Given the description of an element on the screen output the (x, y) to click on. 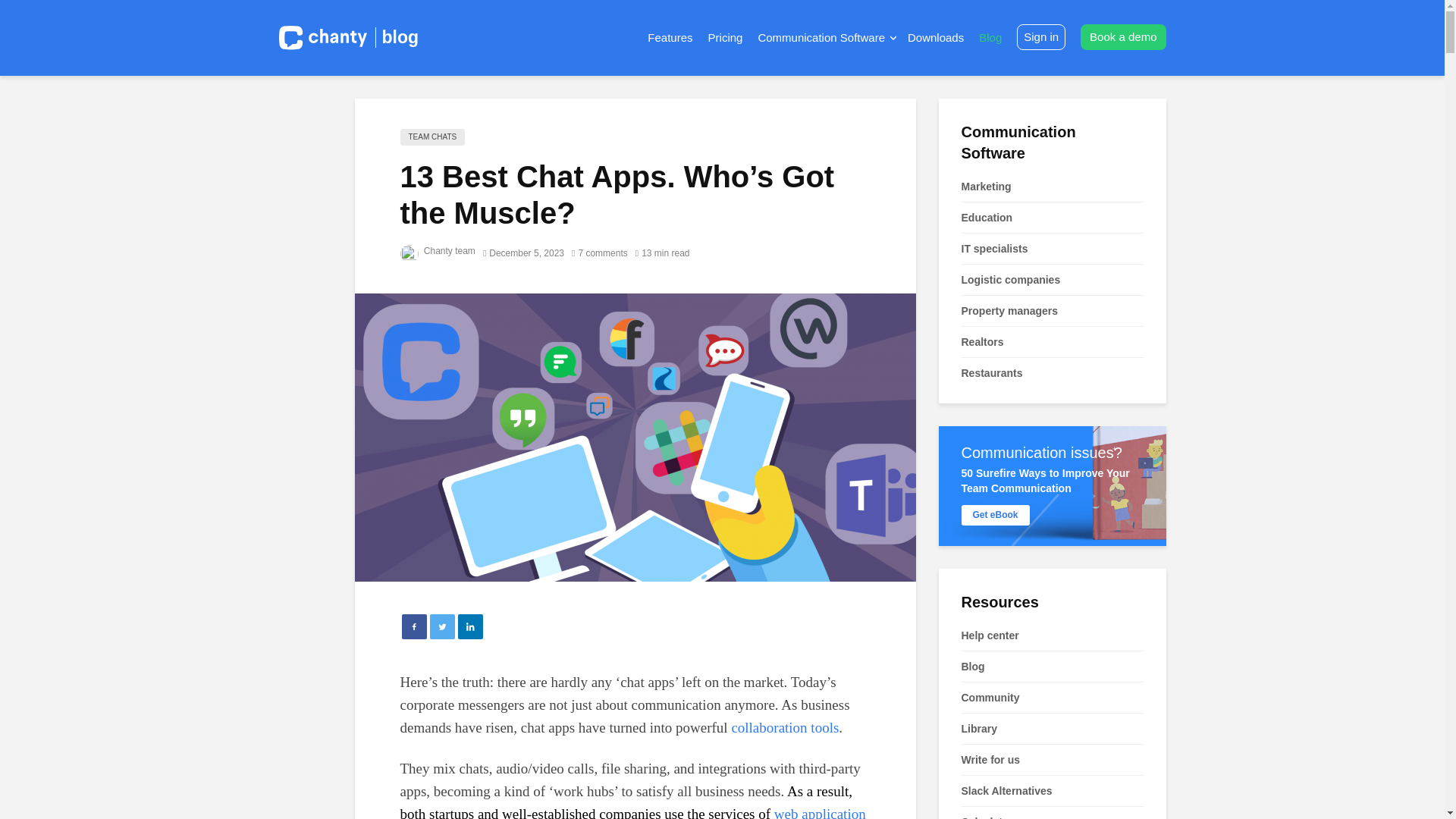
Facebook (413, 626)
Sign in (1040, 36)
Linkedin (470, 626)
Twitter (441, 626)
Downloads (935, 37)
Book a demo (1122, 36)
blog (397, 37)
Features (670, 37)
Pricing (724, 37)
